Given the description of an element on the screen output the (x, y) to click on. 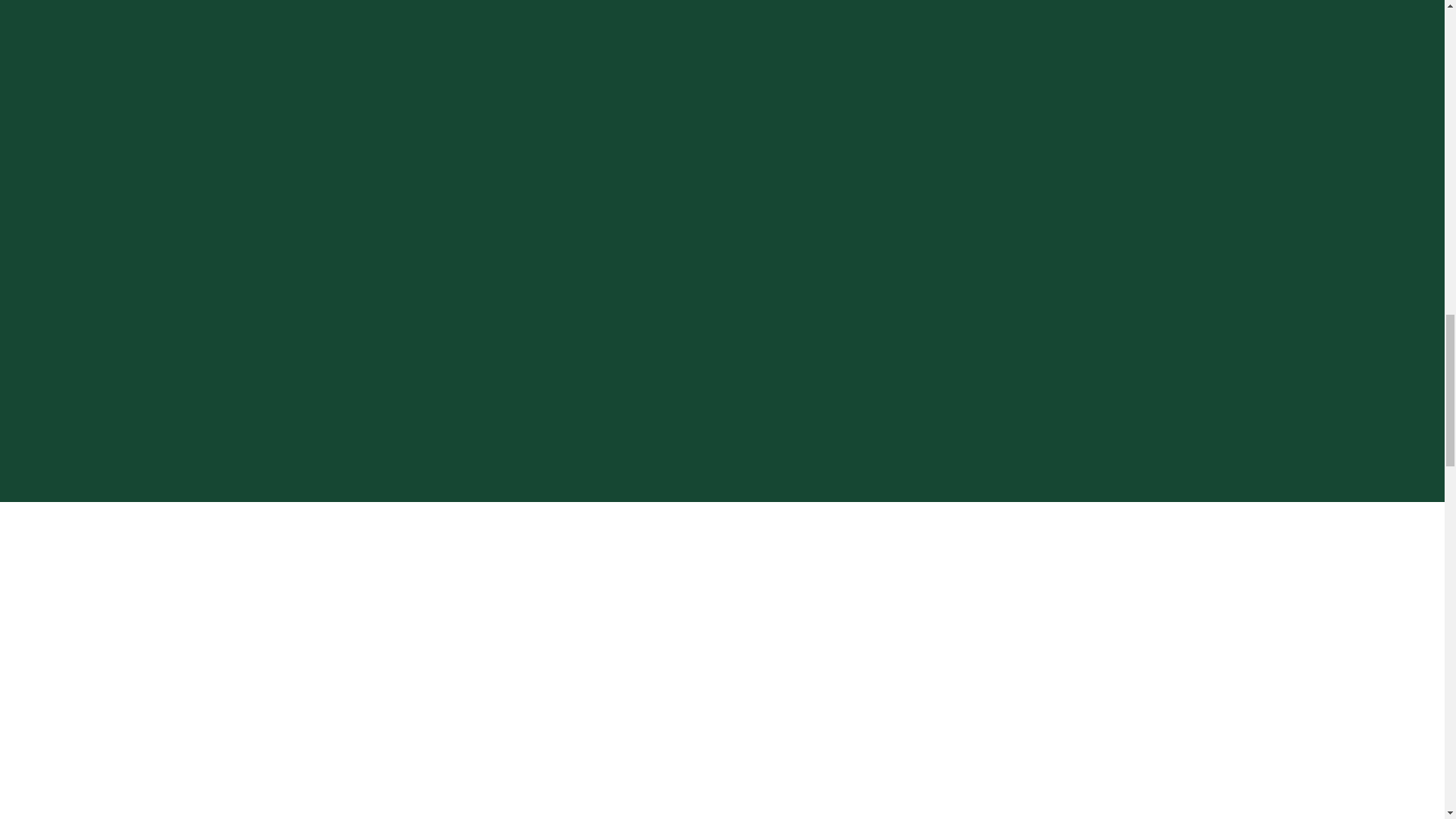
View Image (722, 737)
